Given the description of an element on the screen output the (x, y) to click on. 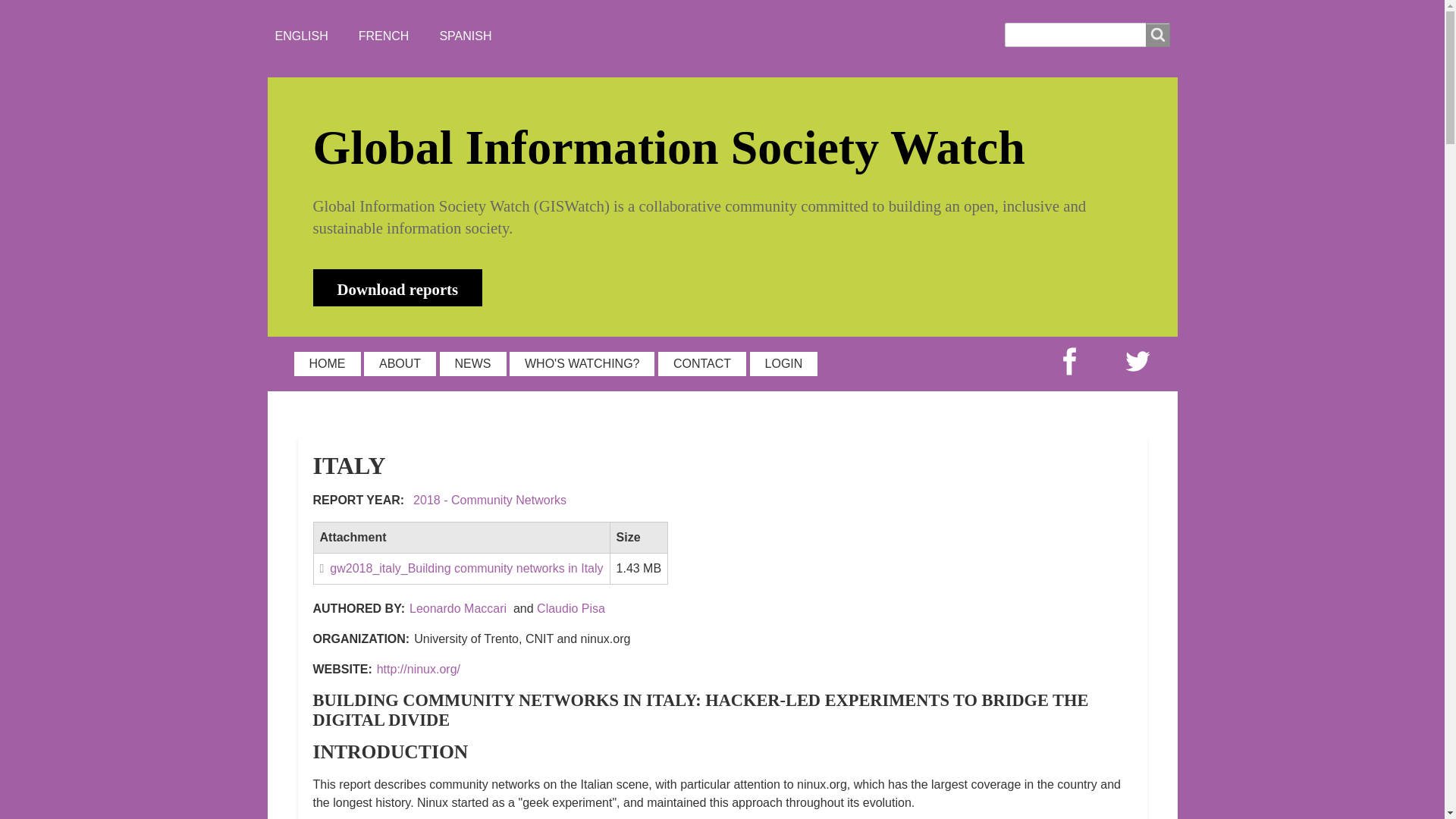
Search (1156, 34)
HOME (327, 363)
2018 - Community Networks (489, 499)
Claudio Pisa (571, 608)
FRENCH (383, 35)
ABOUT (399, 363)
Download reports (397, 287)
Leonardo Maccari (457, 608)
Search (1156, 34)
Enter the terms you wish to search for. (1086, 34)
CONTACT (701, 363)
WHO'S WATCHING? (582, 363)
Search (1156, 34)
LOGIN (783, 363)
NEWS (472, 363)
